Given the description of an element on the screen output the (x, y) to click on. 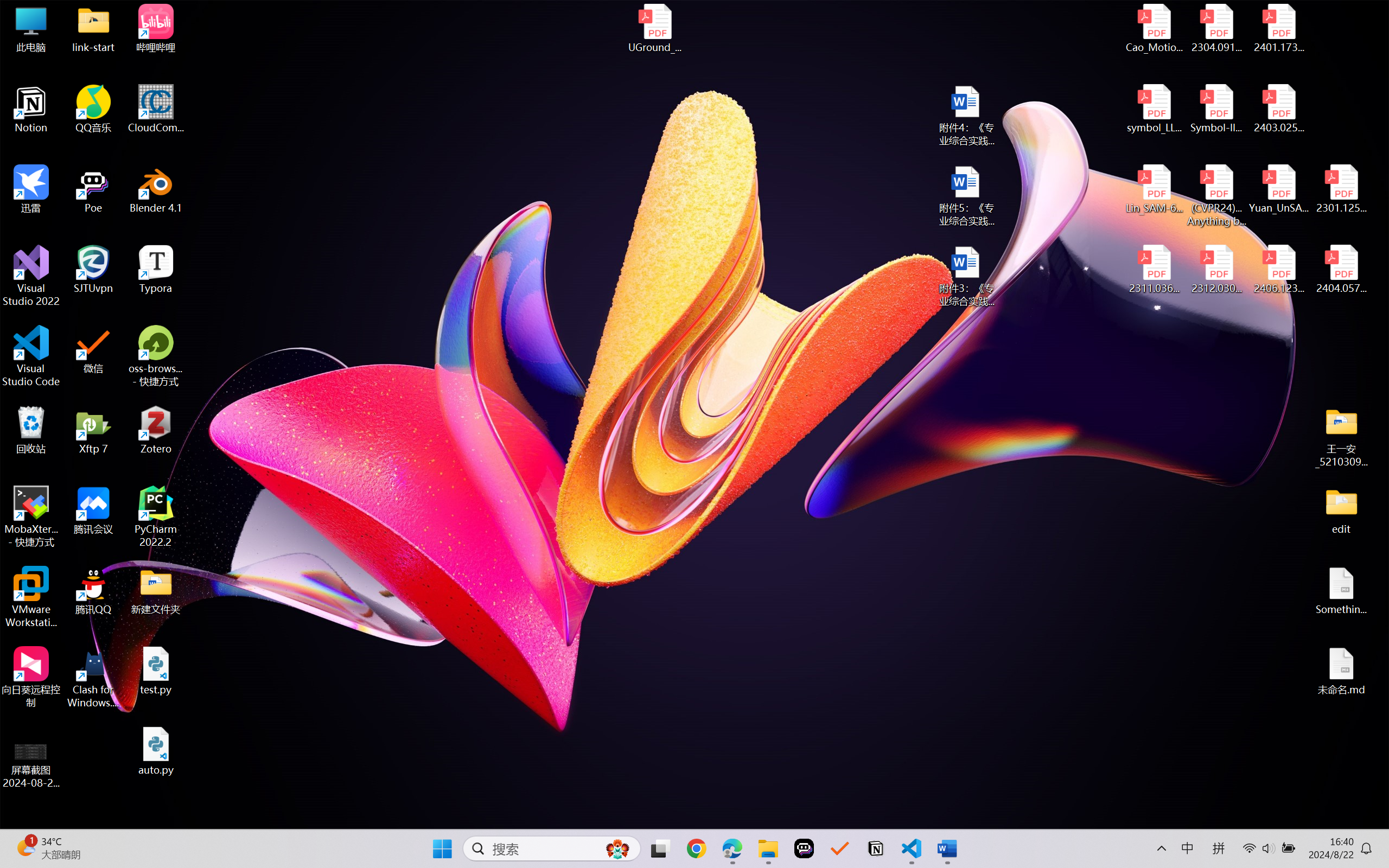
Notion (875, 848)
SJTUvpn (93, 269)
Typora (156, 269)
CloudCompare (156, 109)
Poe (804, 848)
UGround_paper.pdf (654, 28)
2312.03032v2.pdf (1216, 269)
2404.05719v1.pdf (1340, 269)
